Given the description of an element on the screen output the (x, y) to click on. 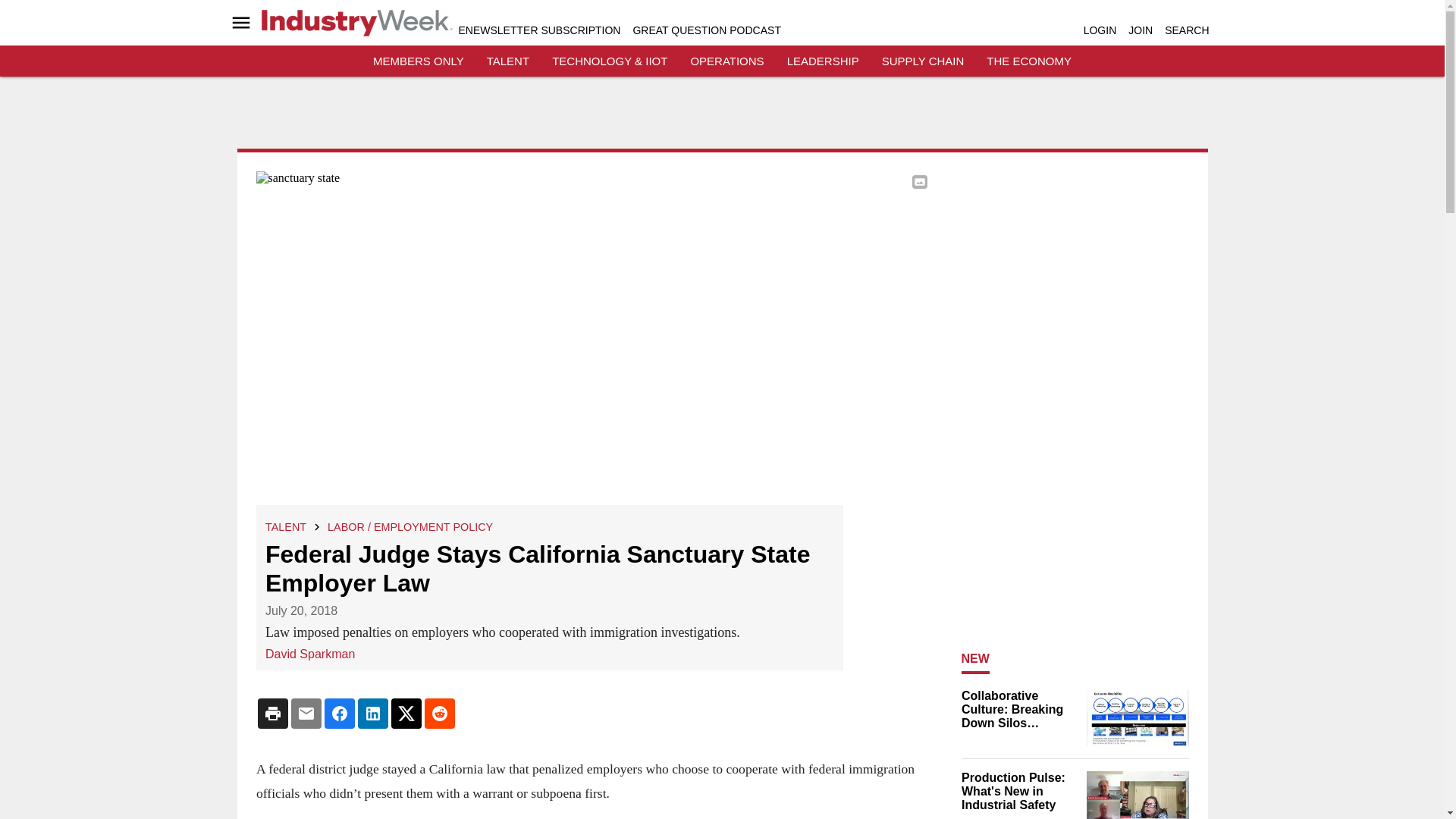
GREAT QUESTION PODCAST (705, 30)
TALENT (284, 526)
SEARCH (1186, 30)
LOGIN (1099, 30)
MEMBERS ONLY (418, 60)
LEADERSHIP (823, 60)
TALENT (507, 60)
THE ECONOMY (1029, 60)
SUPPLY CHAIN (922, 60)
